Given the description of an element on the screen output the (x, y) to click on. 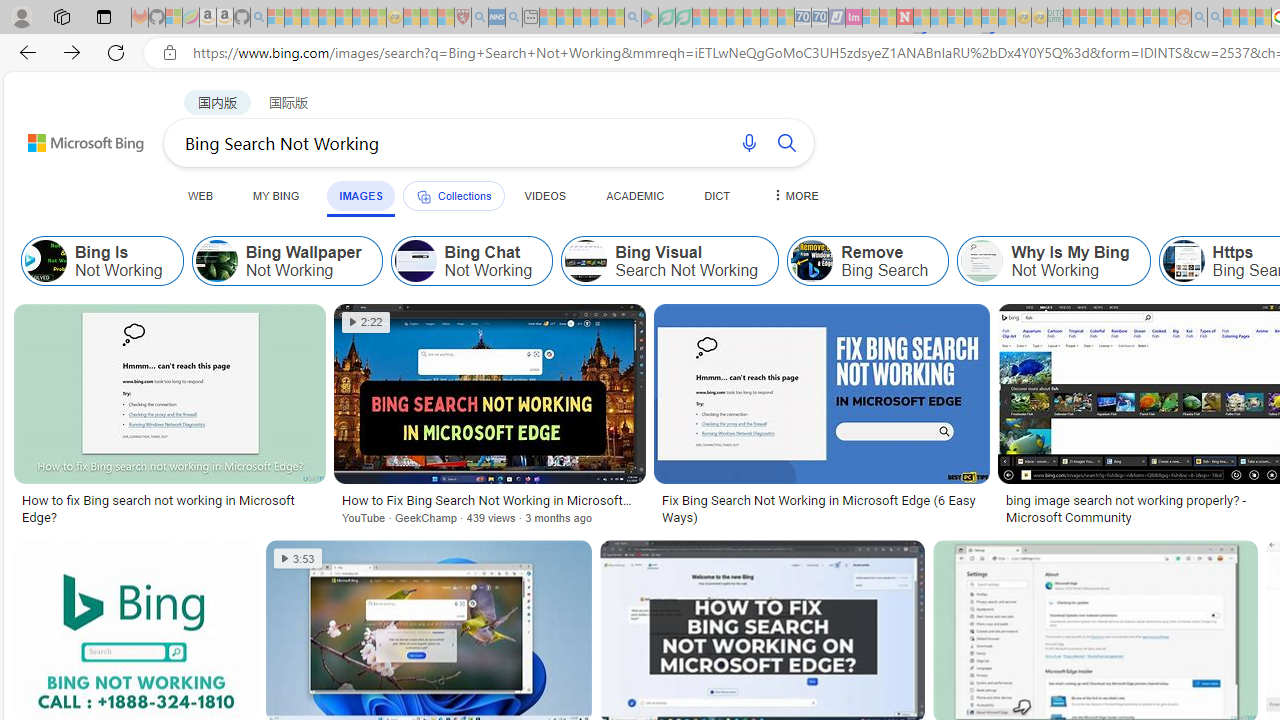
Utah sues federal government - Search - Sleeping (1215, 17)
Back to Bing search (73, 138)
Trusted Community Engagement and Contributions | Guidelines (921, 17)
Search using voice (748, 142)
Fix Bing Search Not Working in Microsoft Edge (6 Easy Ways) (821, 508)
Why Is My Bing Not Working (1053, 260)
Microsoft account | Privacy - Sleeping (1087, 17)
Terms of Use Agreement - Sleeping (666, 17)
Remove Bing Search (812, 260)
